Given the description of an element on the screen output the (x, y) to click on. 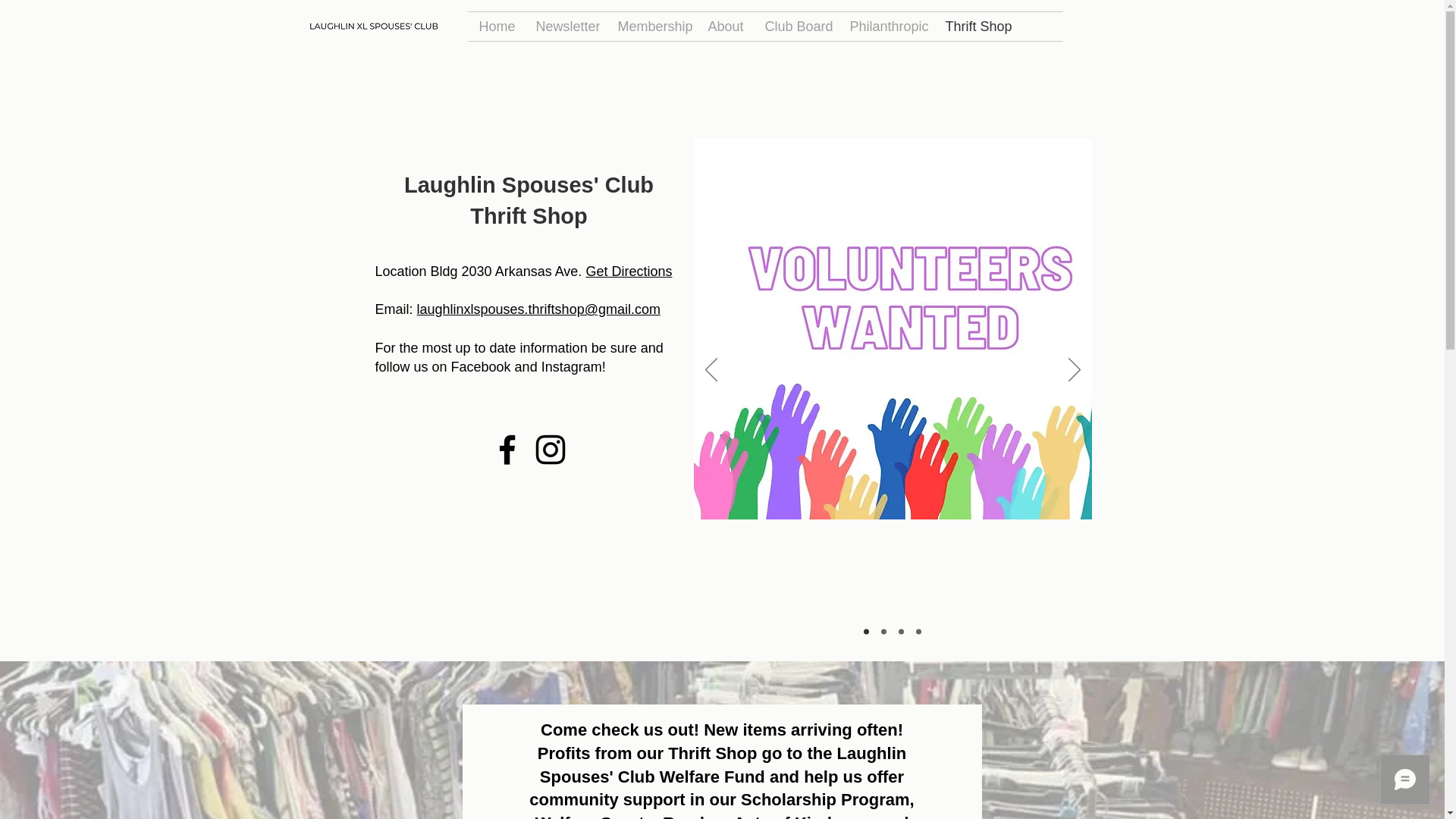
Philanthropic (886, 26)
Club Board (796, 26)
Newsletter (565, 26)
Thrift Shop (975, 26)
Home (495, 26)
About (723, 26)
Get Directions (628, 271)
Membership (652, 26)
